Given the description of an element on the screen output the (x, y) to click on. 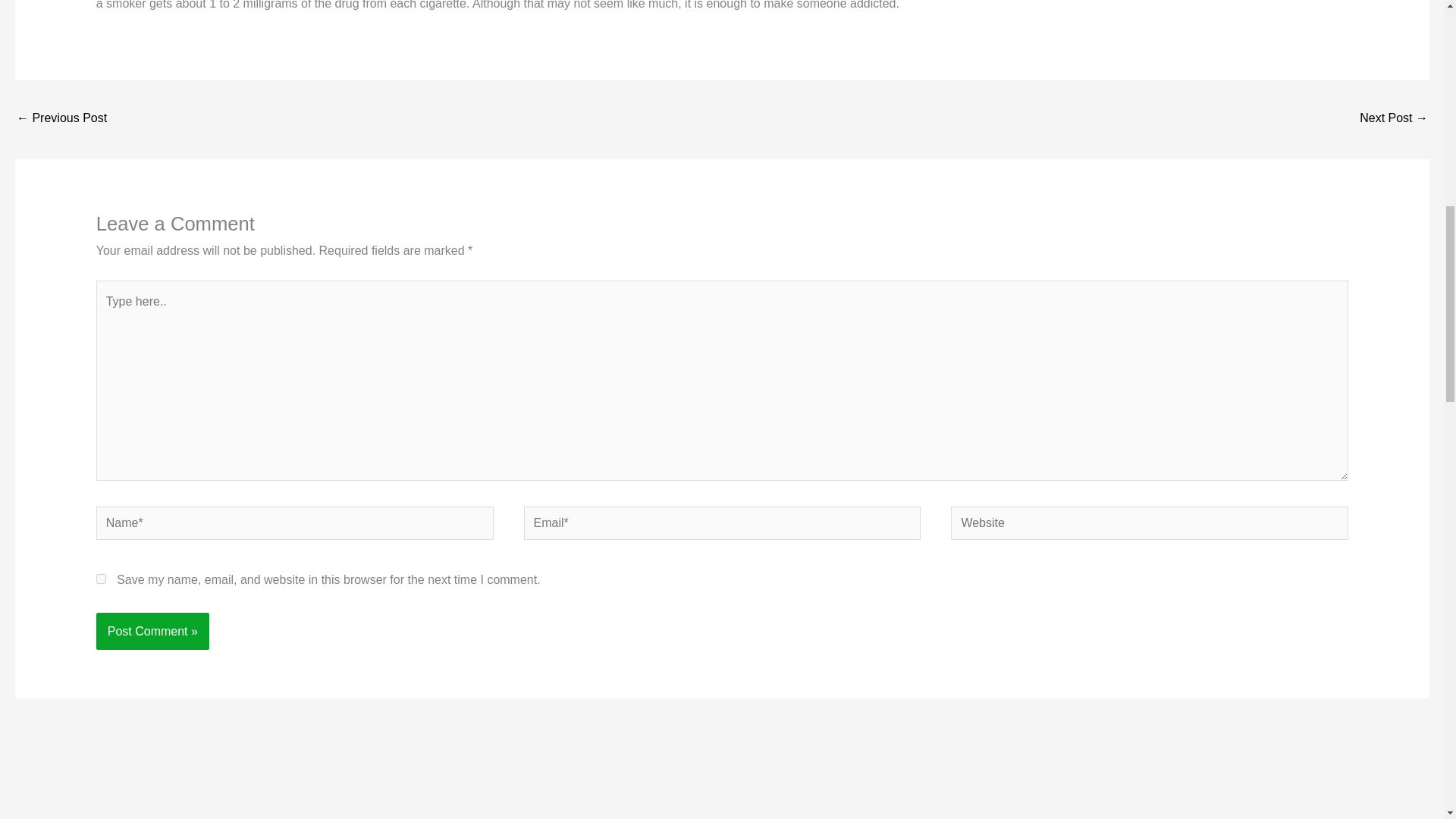
Tobacco Effects On The Body (61, 119)
Prescription Drugs (1393, 119)
yes (101, 578)
